Given the description of an element on the screen output the (x, y) to click on. 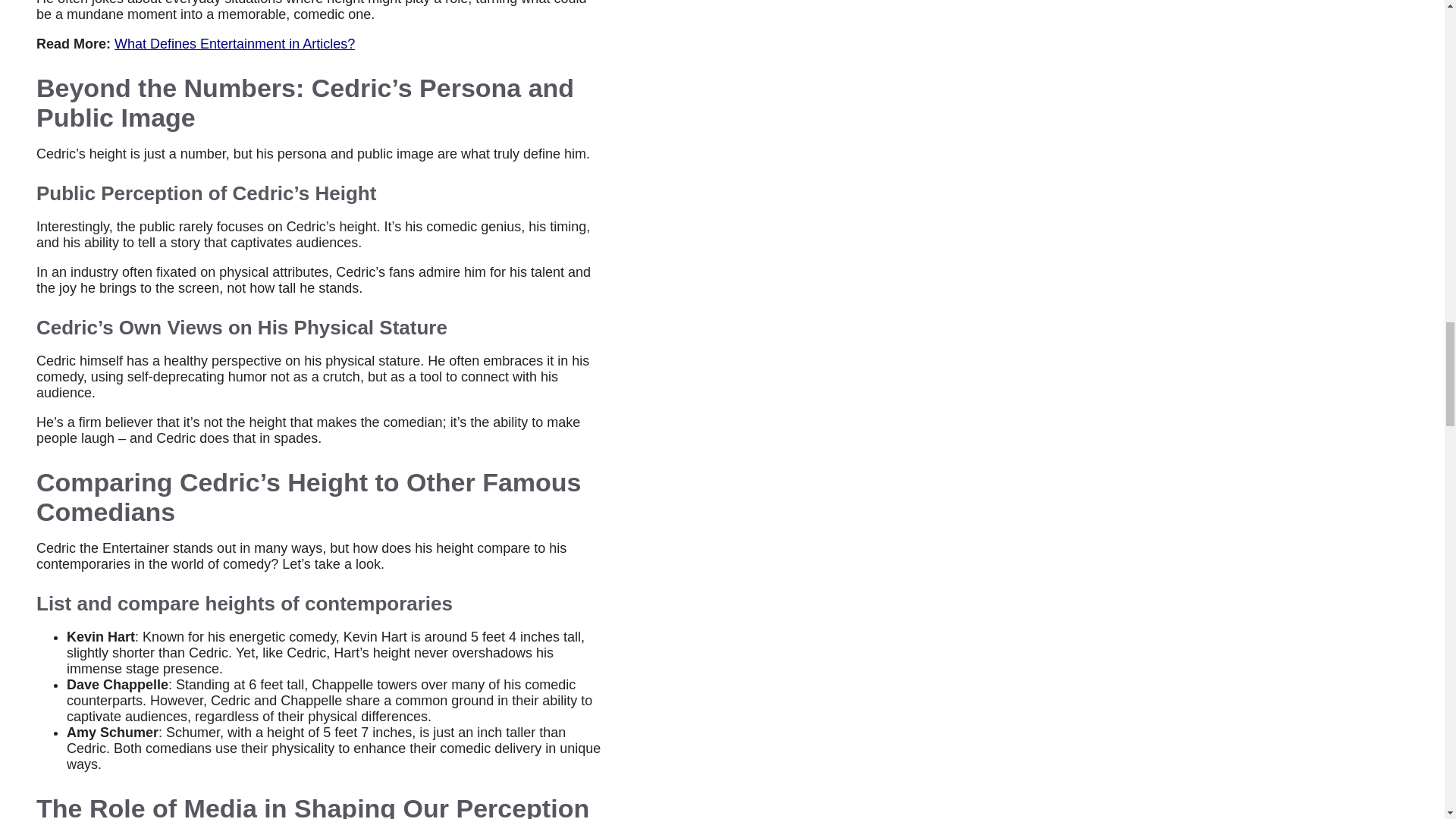
What Defines Entertainment in Articles? (235, 43)
